Given the description of an element on the screen output the (x, y) to click on. 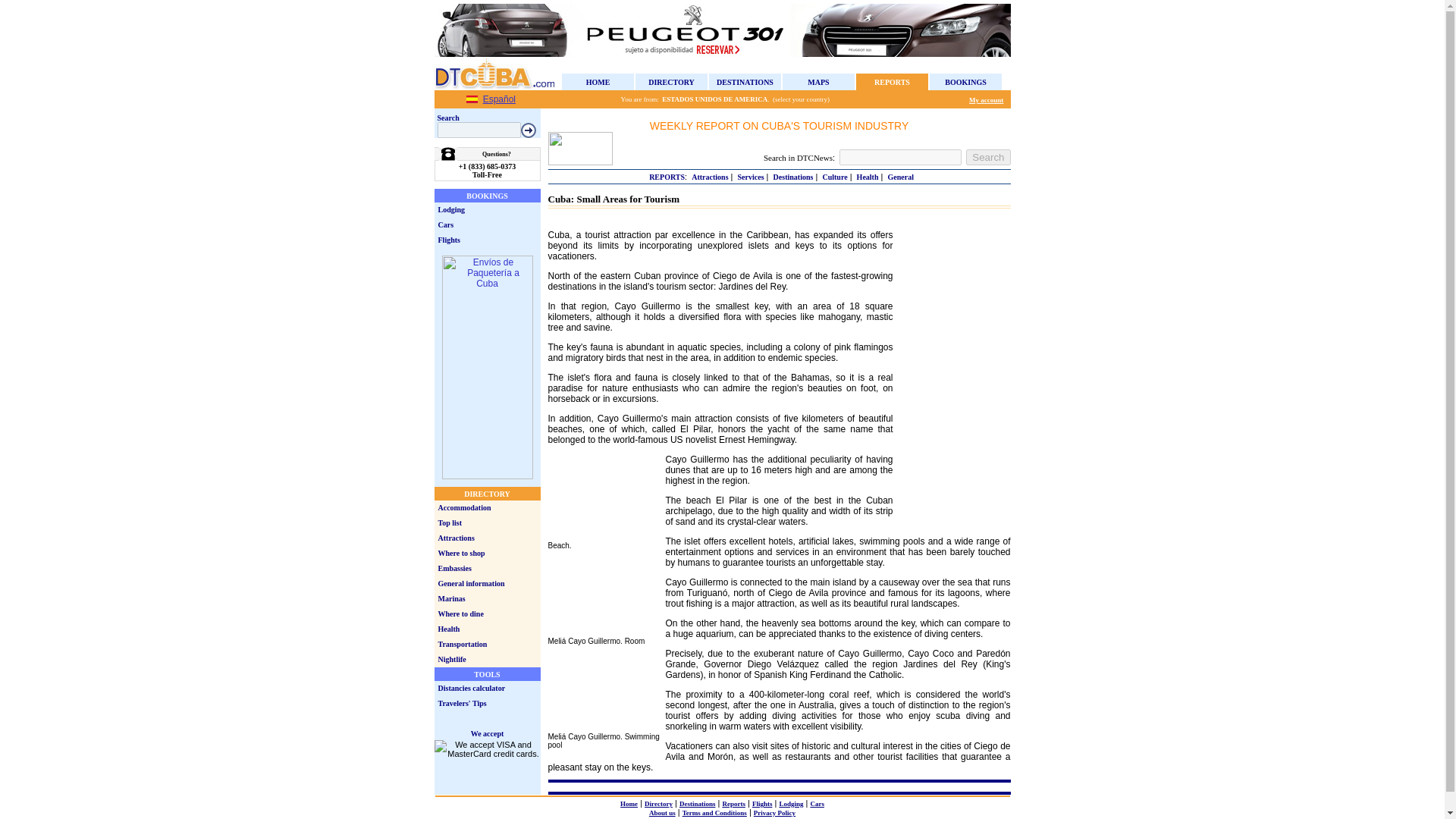
Top list (450, 522)
Search (988, 157)
Accommodation (465, 507)
Health (868, 176)
Flights (449, 239)
Nightlife (451, 659)
General information (471, 583)
Transportation (462, 643)
My account (986, 100)
REPORTS (666, 176)
